Given the description of an element on the screen output the (x, y) to click on. 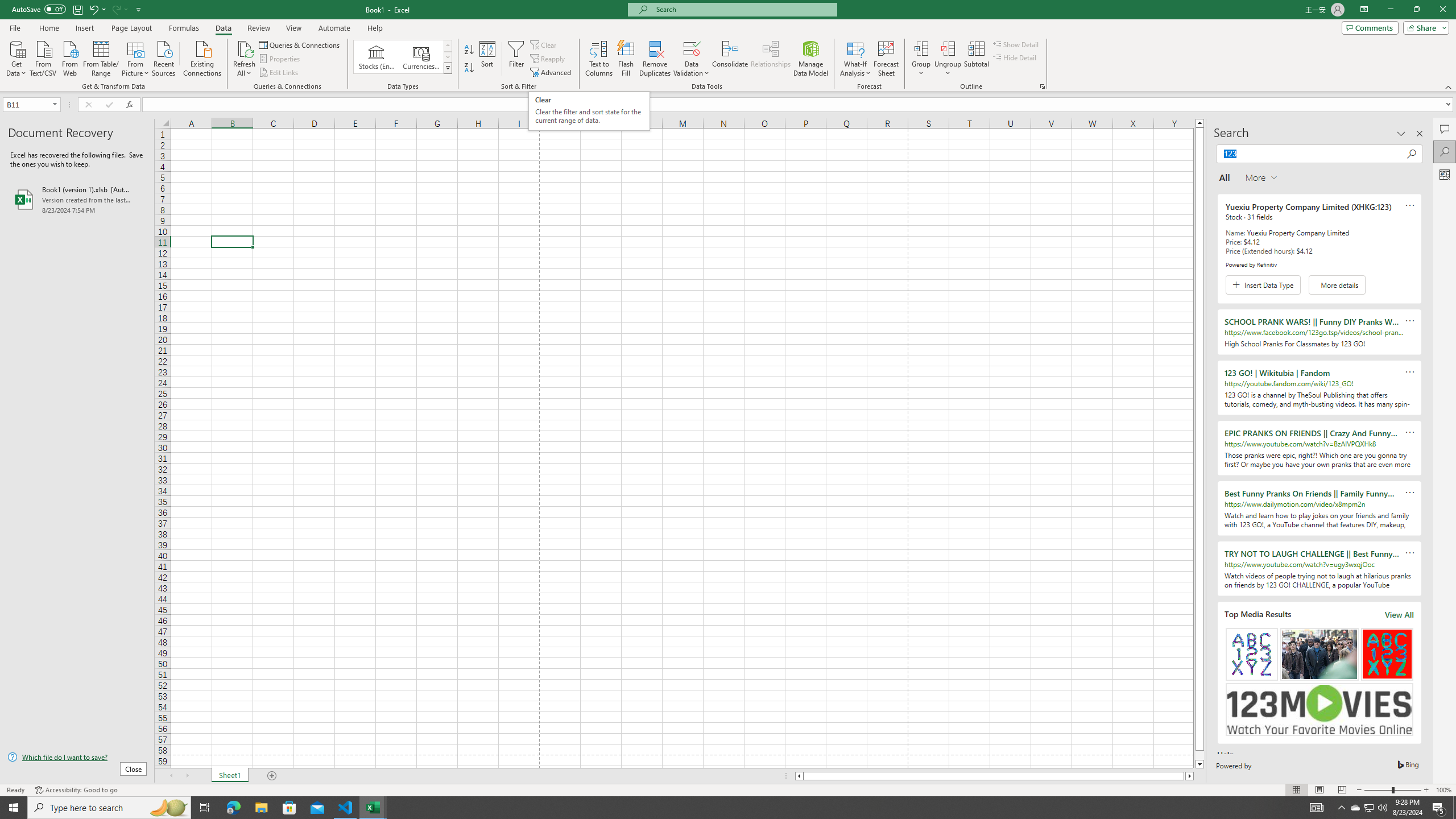
From Text/CSV (43, 57)
From Table/Range (100, 57)
Relationships (770, 58)
Currencies (English) (420, 56)
Sort A to Z (469, 49)
Consolidate... (729, 58)
